Given the description of an element on the screen output the (x, y) to click on. 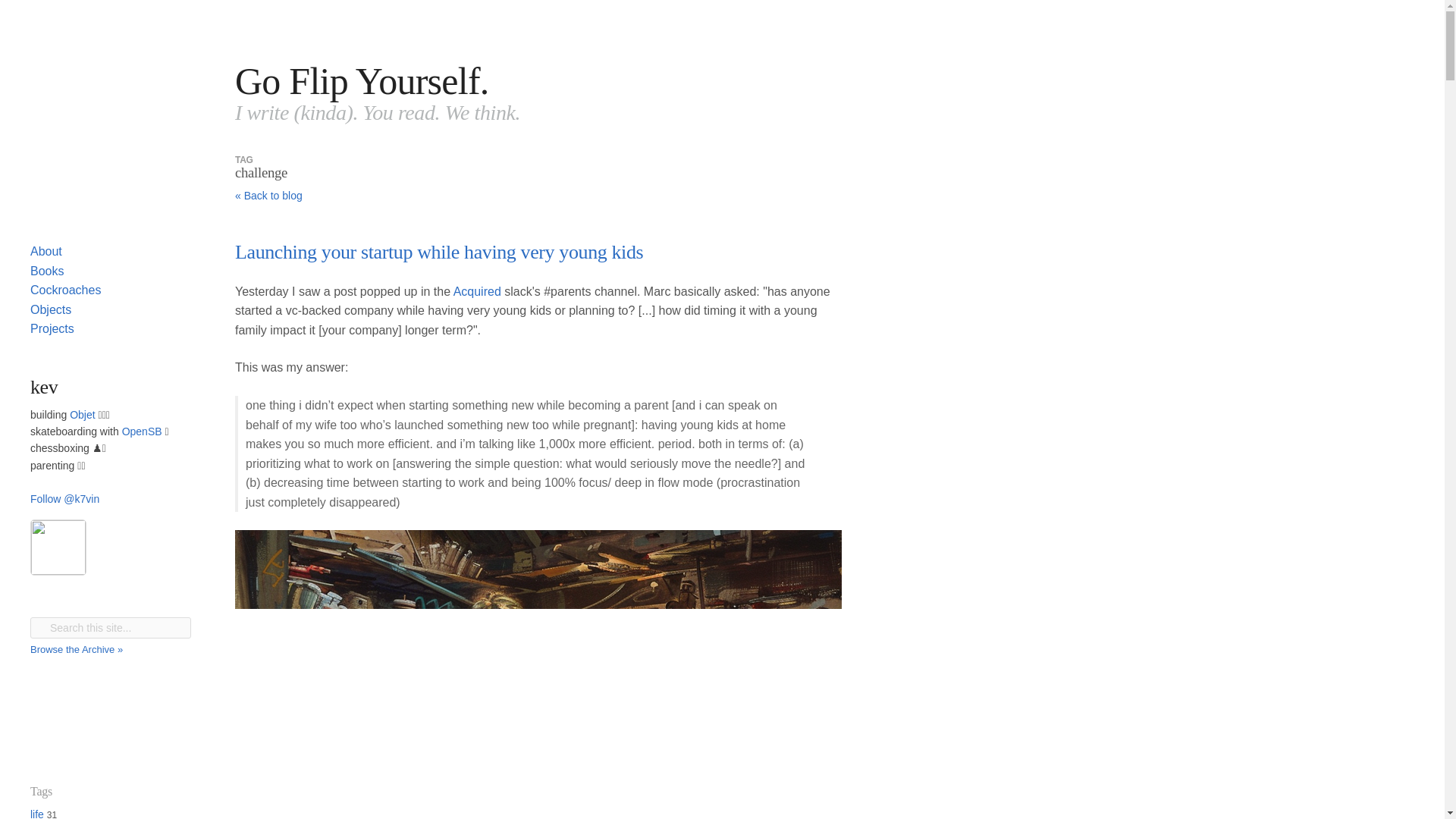
Acquired (476, 291)
Launching your startup while having very young kids (438, 251)
Go Flip Yourself. (361, 80)
